Given the description of an element on the screen output the (x, y) to click on. 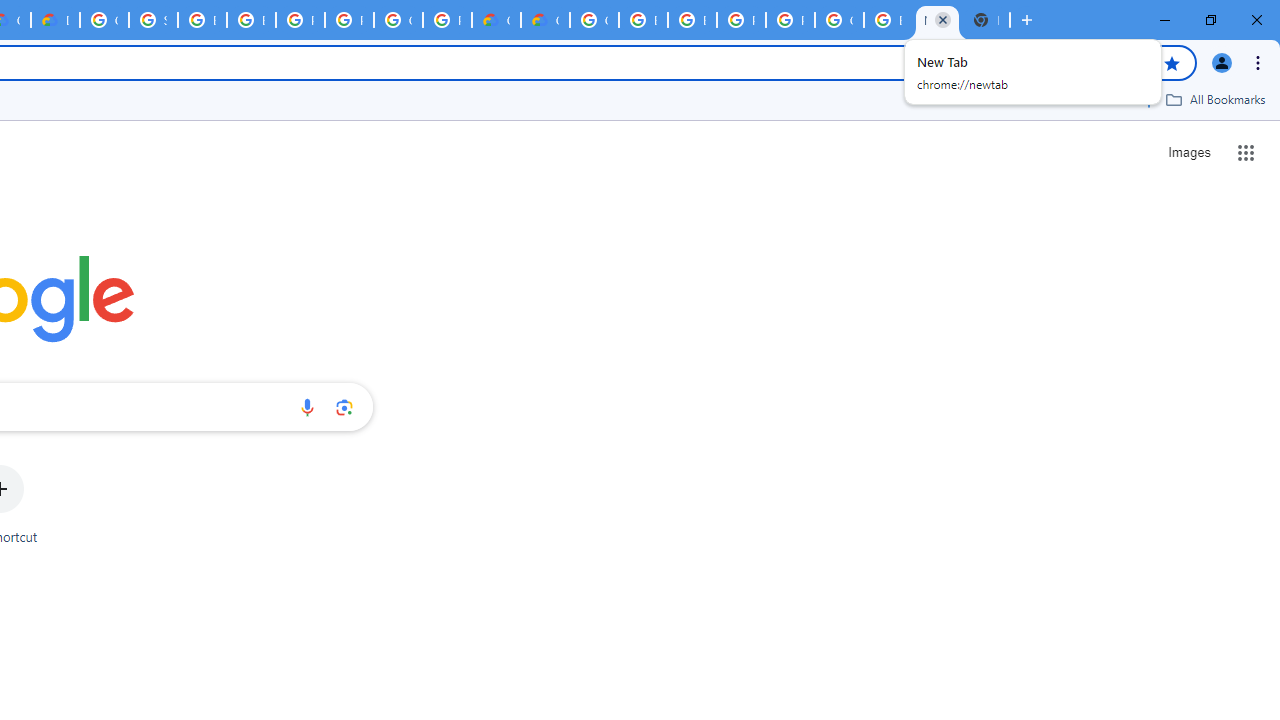
Google Cloud Platform (398, 20)
